Given the description of an element on the screen output the (x, y) to click on. 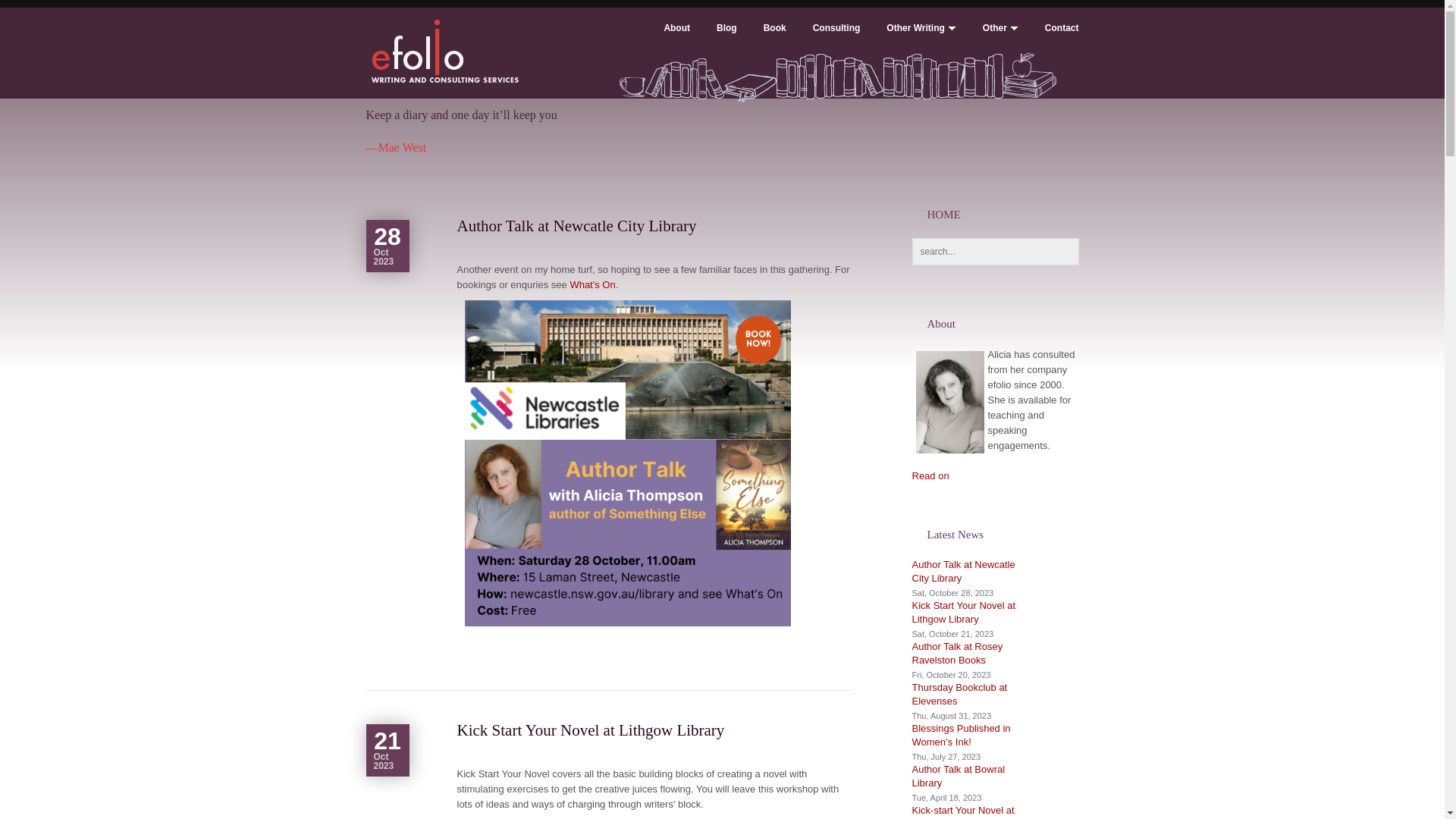
Author Talk at Rosey Ravelston Books Element type: text (956, 652)
What's On Element type: text (592, 284)
Thursday Bookclub at Elevenses Element type: text (959, 693)
Other Element type: text (987, 38)
Author Talk at Newcatle City Library Element type: text (962, 570)
Kick Start Your Novel at Lithgow Library Element type: text (963, 611)
search... Element type: text (994, 251)
Read on Element type: text (929, 475)
Blog Element type: text (713, 38)
Book Element type: text (761, 38)
Consulting Element type: text (823, 38)
Other Writing Element type: text (907, 38)
Contact Element type: text (1048, 38)
Kick Start Your Novel at Lithgow Library Element type: text (590, 730)
Author Talk at Bowral Library Element type: text (957, 775)
Author Talk at Newcatle City Library Element type: text (576, 225)
About Element type: text (663, 38)
